Given the description of an element on the screen output the (x, y) to click on. 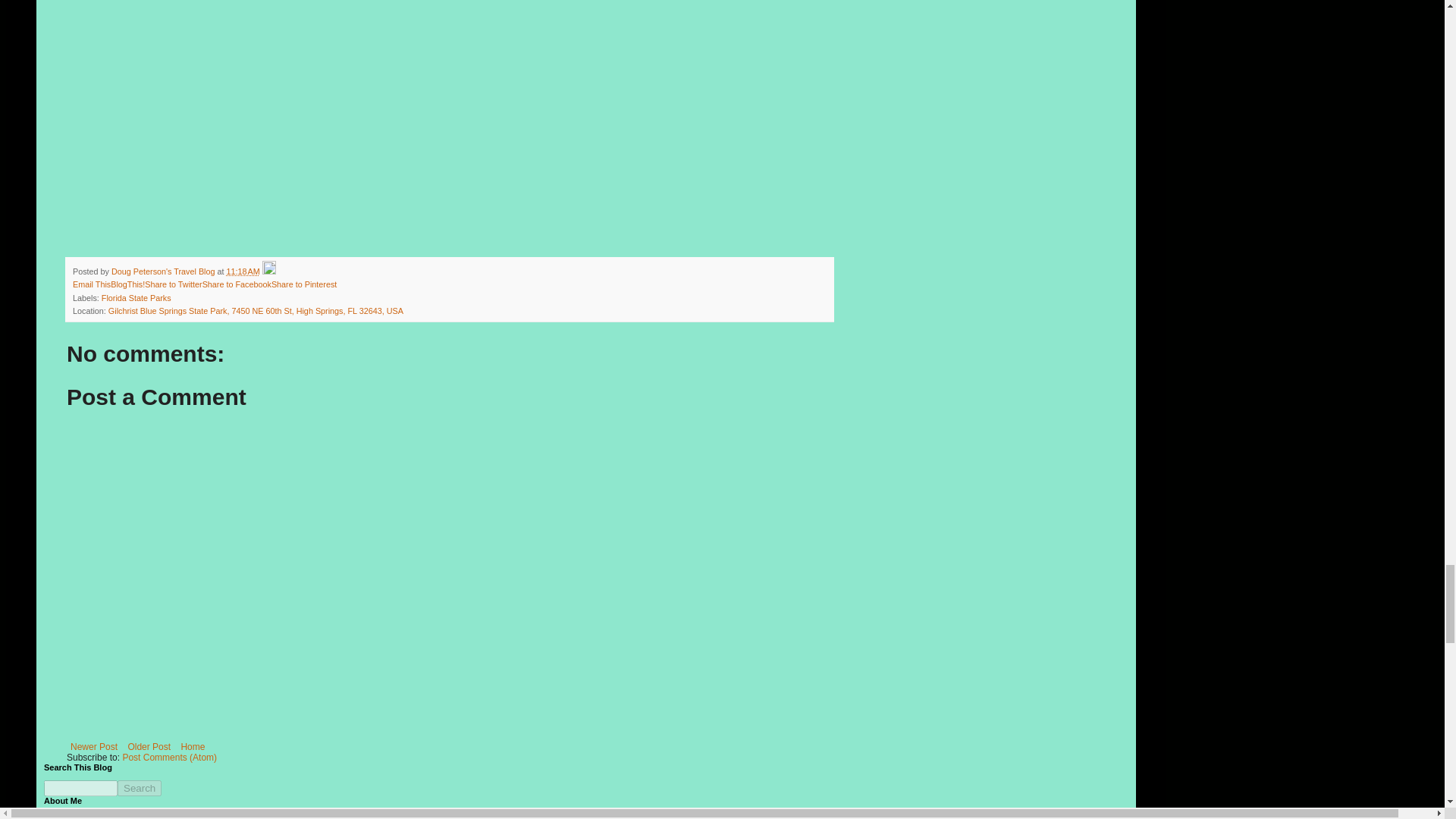
Search (139, 788)
Florida State Parks (136, 297)
Search (139, 788)
Doug Peterson's Travel Blog (164, 271)
Older Post (148, 746)
search (139, 788)
BlogThis! (127, 284)
Share to Twitter (173, 284)
Email This (91, 284)
Edit Post (269, 271)
BlogThis! (127, 284)
permanent link (243, 271)
Share to Facebook (236, 284)
search (80, 788)
